Given the description of an element on the screen output the (x, y) to click on. 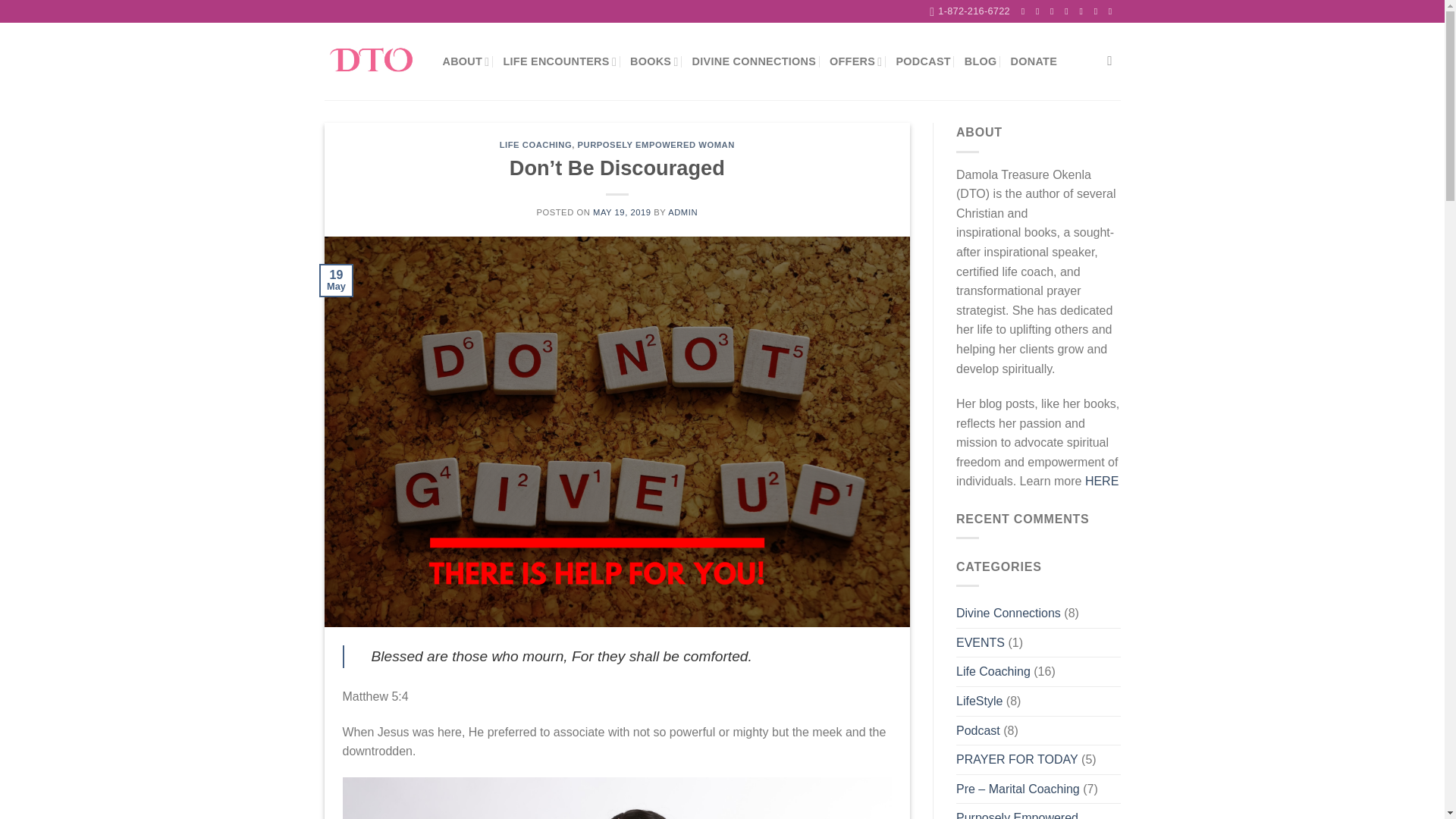
PODCAST (922, 61)
OFFERS (855, 61)
BLOG (980, 61)
BOOKS (654, 61)
1-872-216-6722 (970, 11)
LIFE ENCOUNTERS (558, 61)
DIVINE CONNECTIONS (754, 61)
PURPOSELY EMPOWERED WOMAN (656, 144)
DONATE (1033, 61)
LIFE COACHING (535, 144)
